Given the description of an element on the screen output the (x, y) to click on. 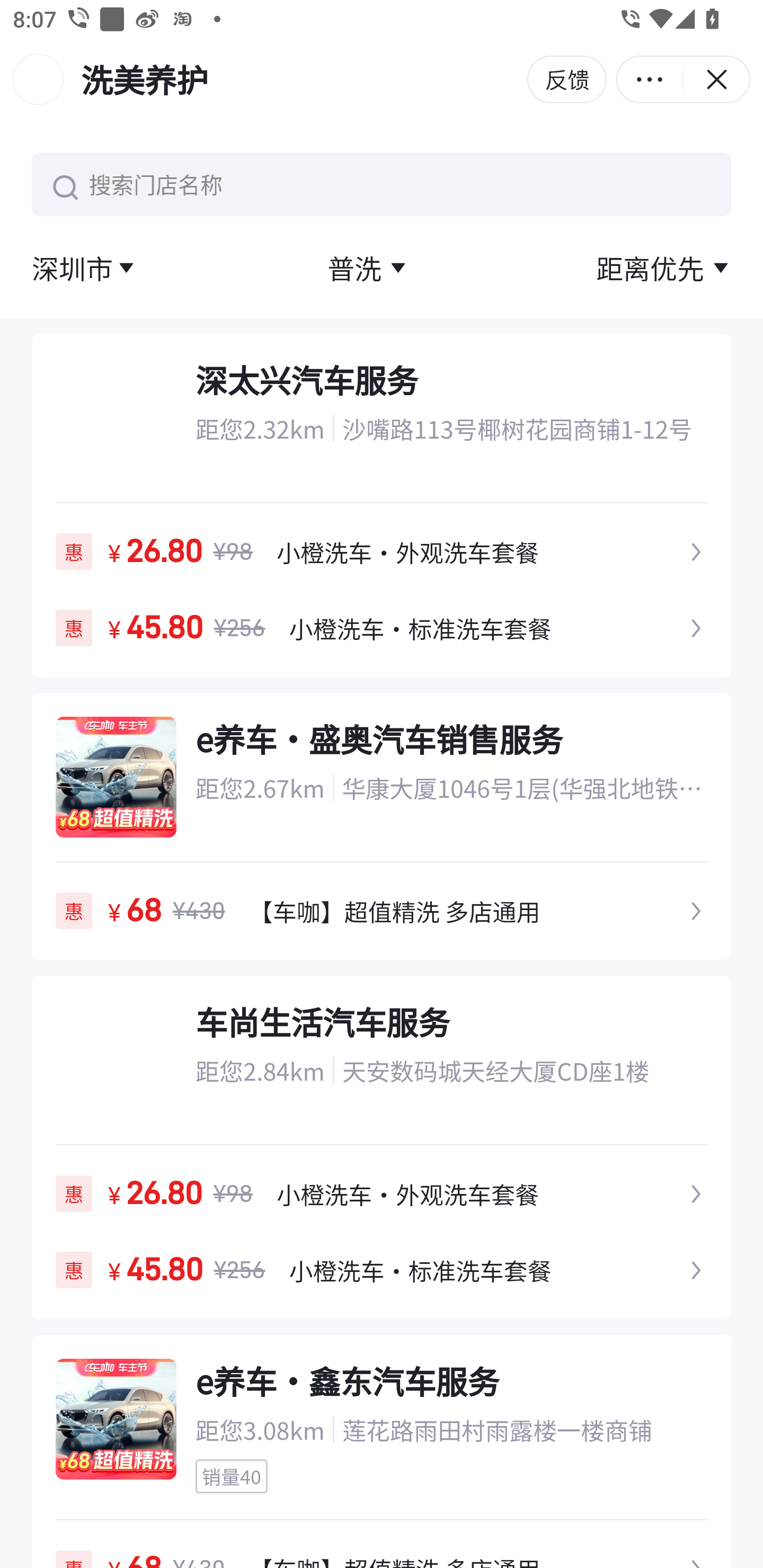
品牌logo (37, 79)
反馈 (566, 78)
更多 (649, 78)
关闭 (716, 78)
